Given the description of an element on the screen output the (x, y) to click on. 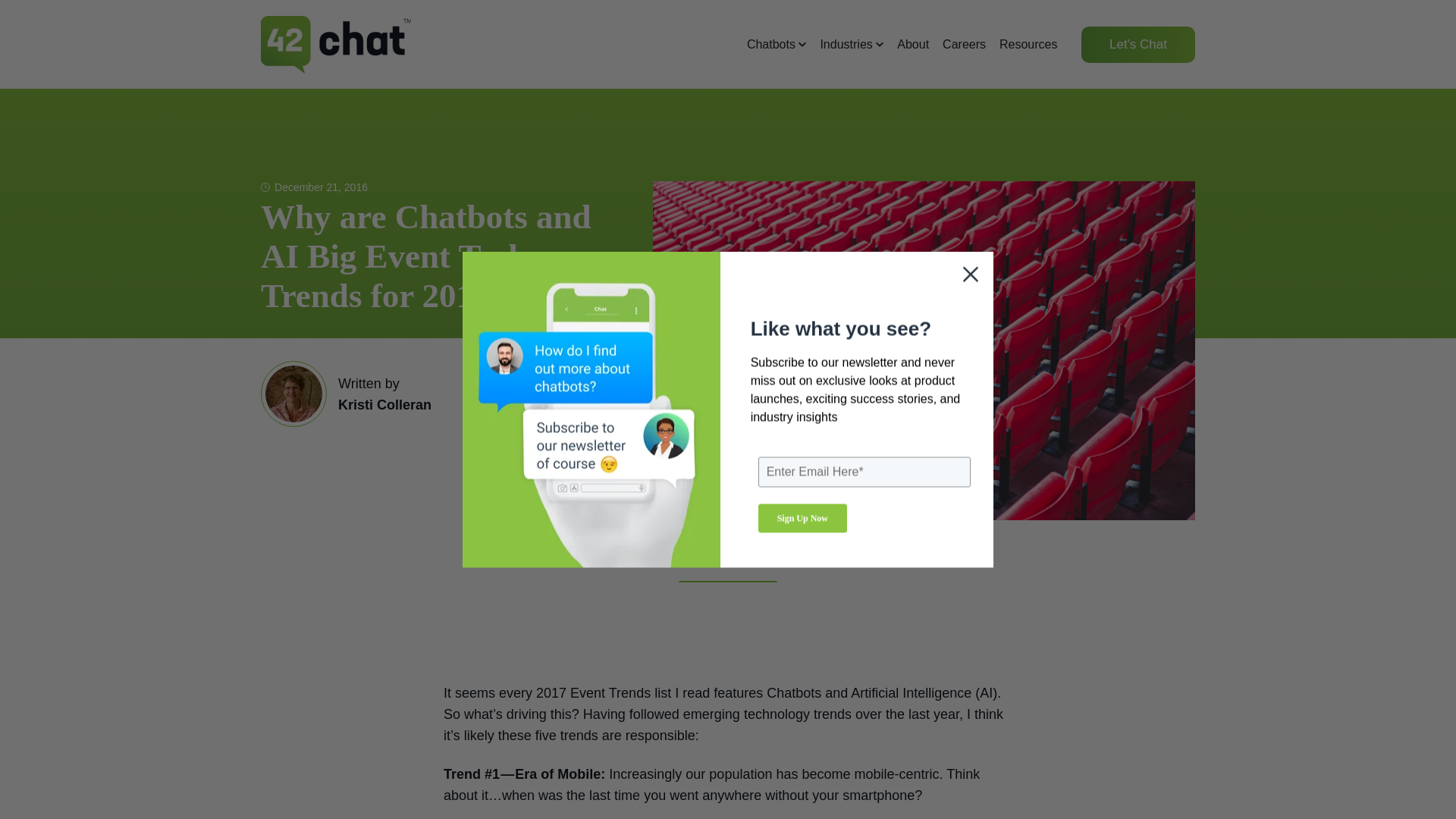
Chatbots (776, 43)
Industries (850, 43)
Let's Chat (1138, 43)
Resources (1028, 43)
